Given the description of an element on the screen output the (x, y) to click on. 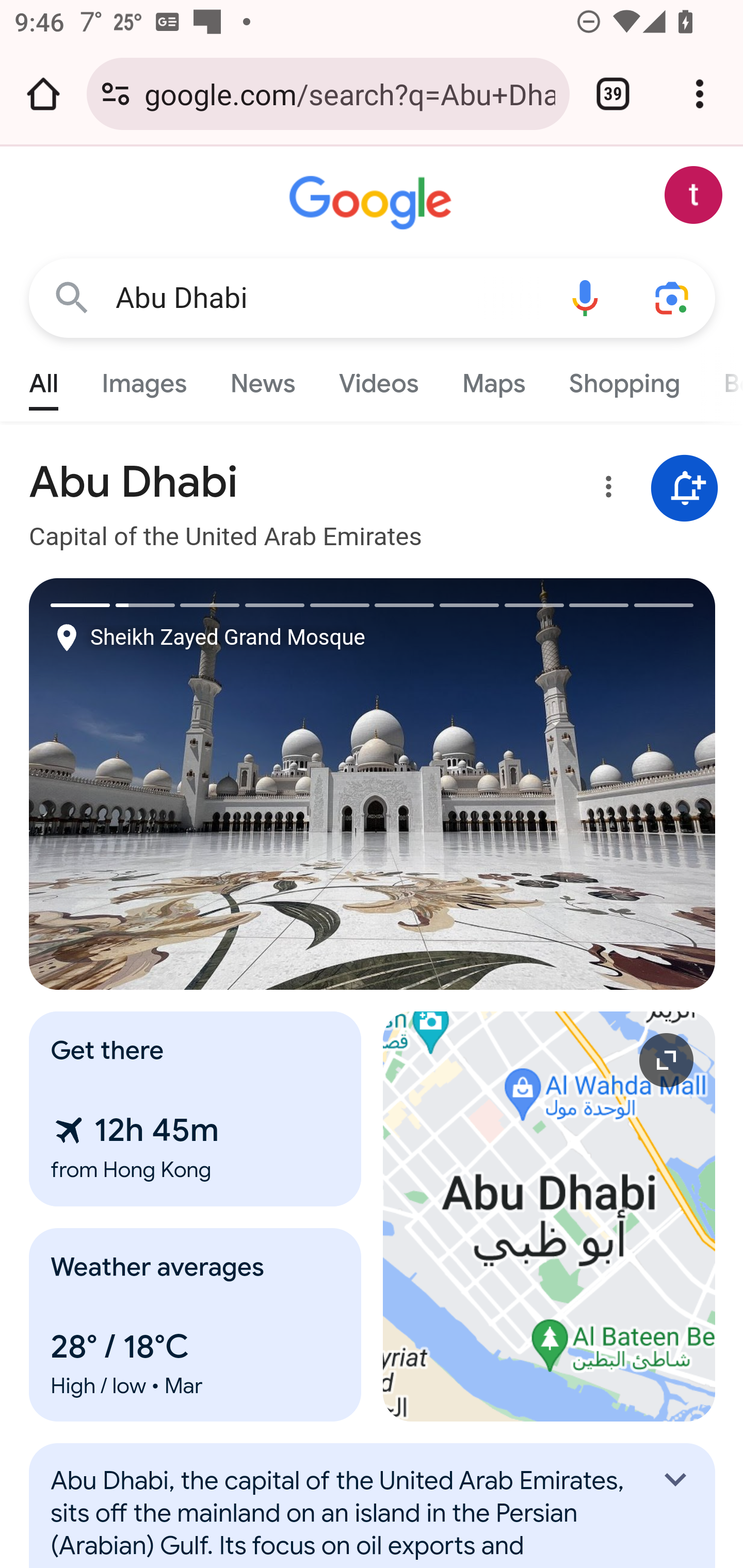
Open the home page (43, 93)
Connection is secure (115, 93)
Switch or close tabs (612, 93)
Customize and control Google Chrome (699, 93)
Google (372, 203)
Google Search (71, 296)
Search using your camera or photos (672, 296)
Abu Dhabi (328, 297)
Images (144, 378)
News (262, 378)
Videos (378, 378)
Maps (493, 378)
Shopping (623, 378)
Get notifications about Abu Dhabi (684, 489)
More options (605, 489)
Previous image (200, 783)
Next image (544, 783)
Expand map (549, 1216)
Weather averages 28° / 18°C High / low • Mar (195, 1324)
